Given the description of an element on the screen output the (x, y) to click on. 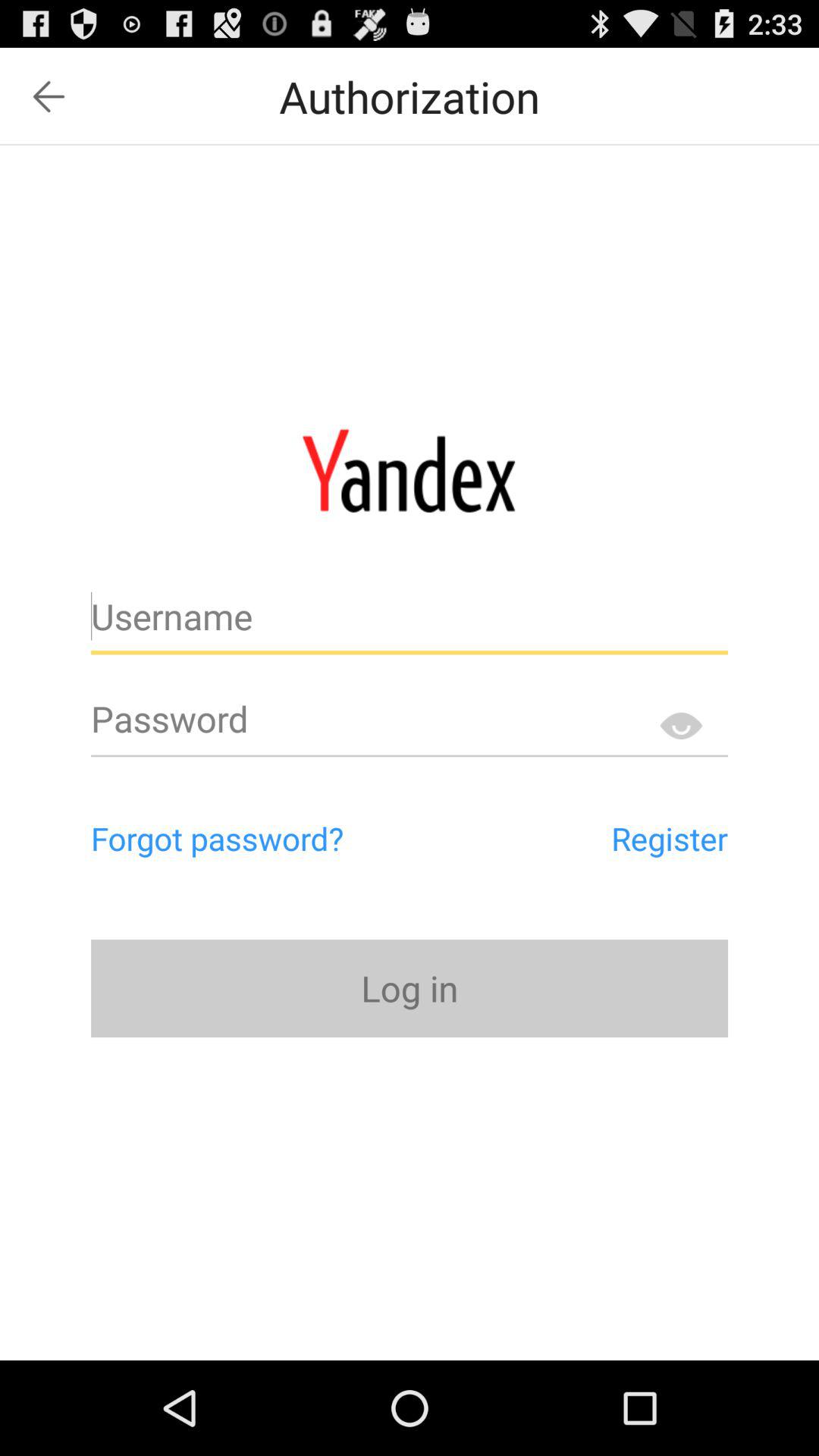
turn off item to the left of the register icon (282, 837)
